Given the description of an element on the screen output the (x, y) to click on. 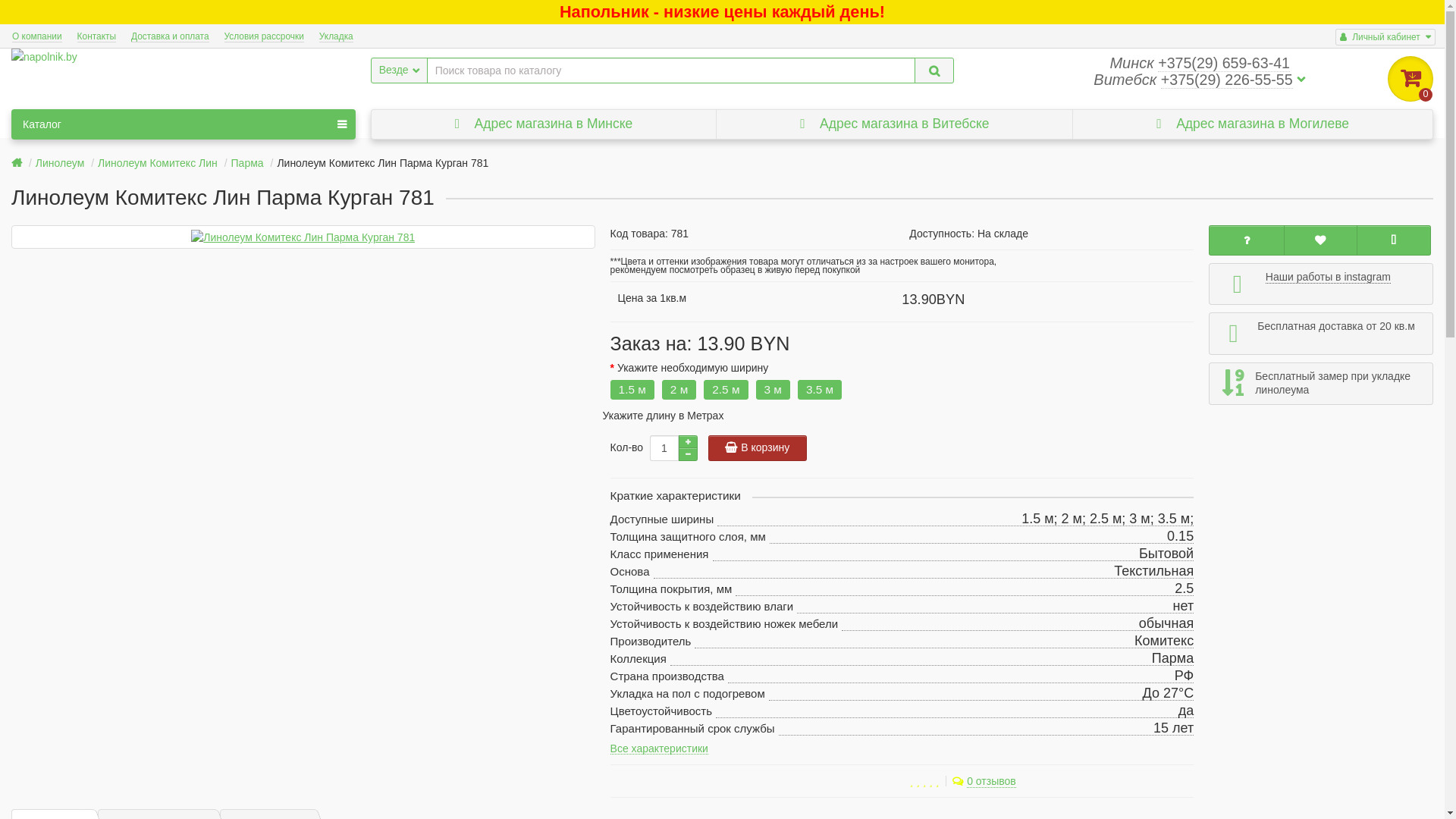
0 Element type: text (1410, 78)
napolnik.by Element type: hover (44, 56)
